Given the description of an element on the screen output the (x, y) to click on. 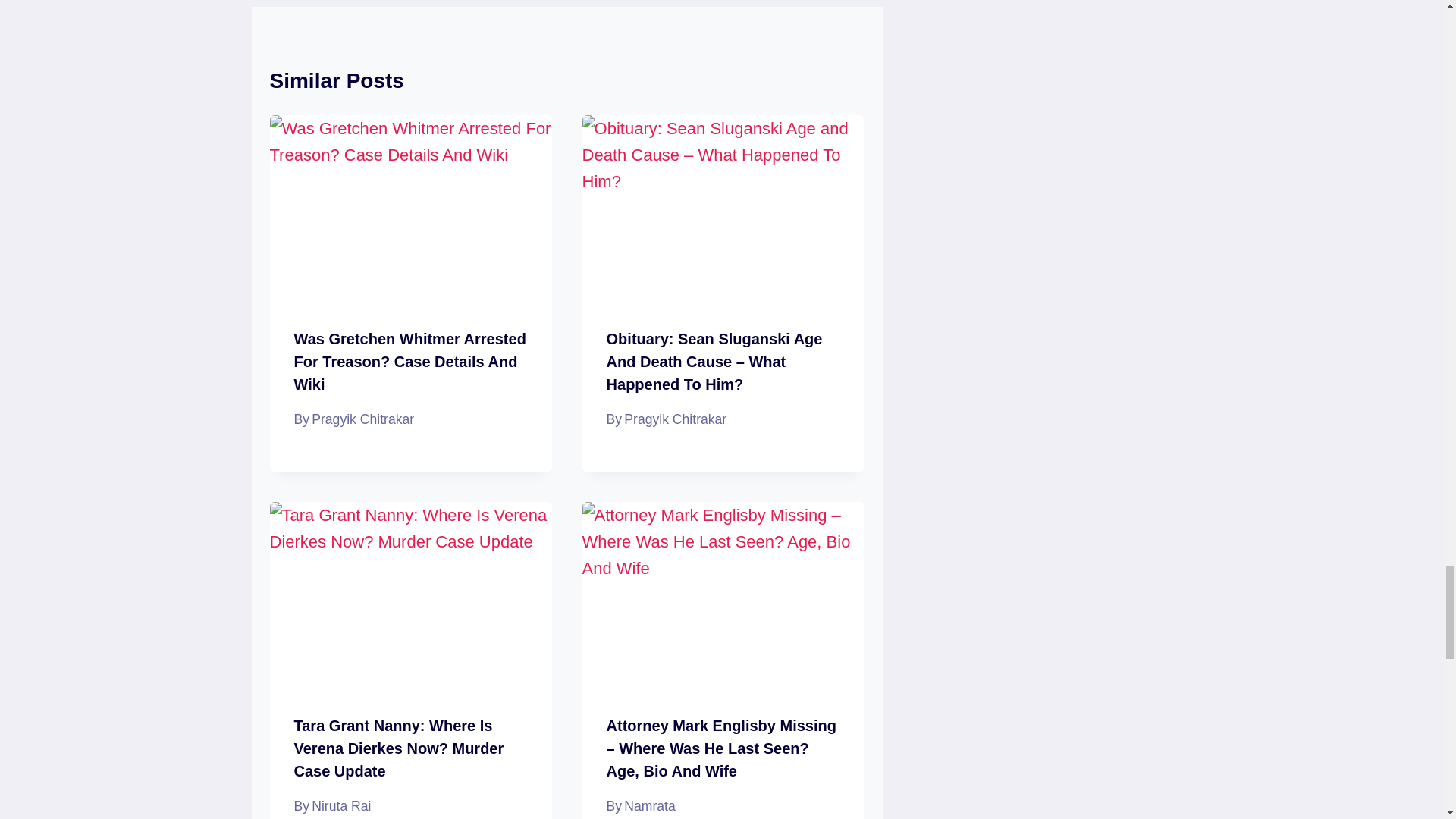
Pragyik Chitrakar (362, 418)
Pragyik Chitrakar (675, 418)
